Given the description of an element on the screen output the (x, y) to click on. 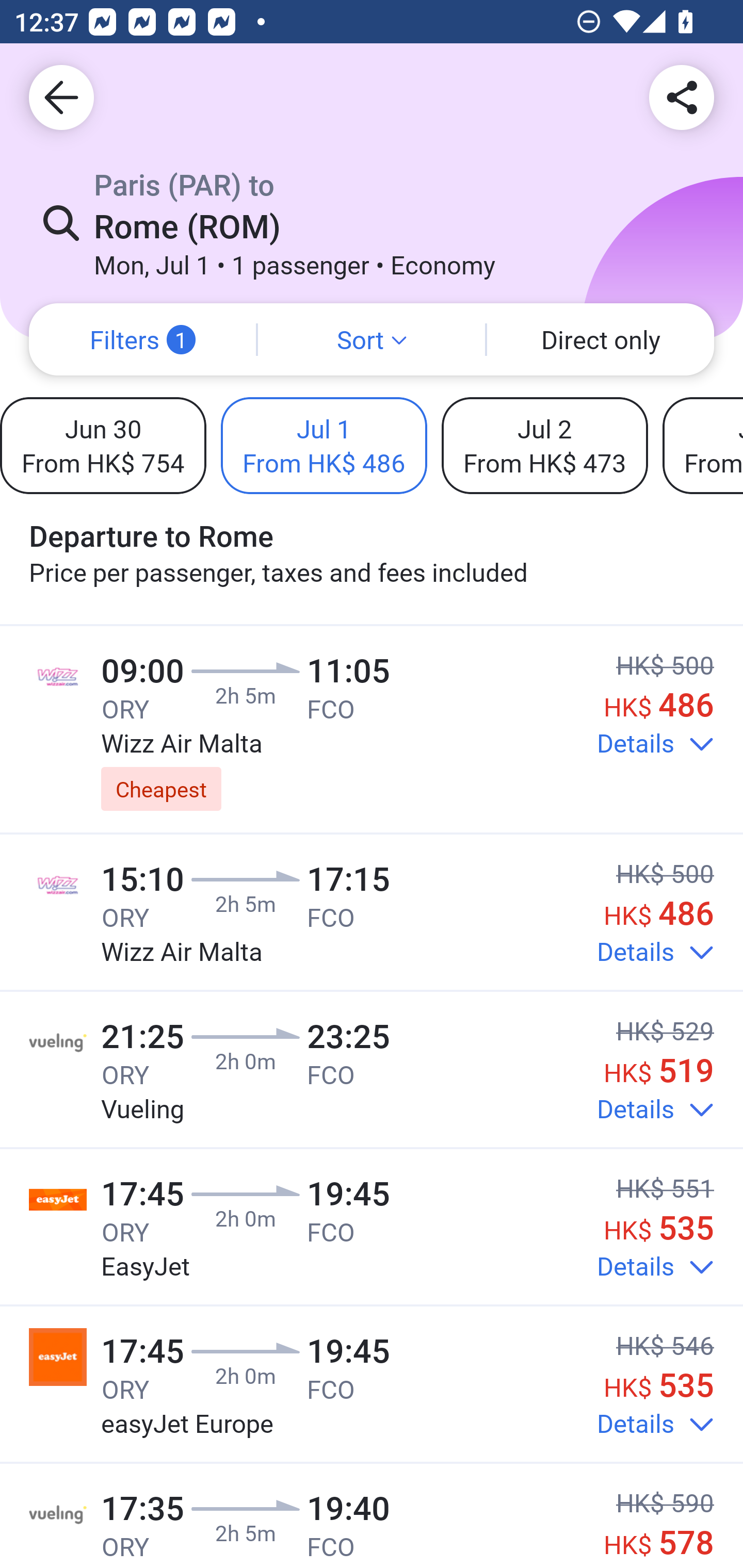
Filters 1 (141, 339)
Sort (371, 339)
Direct only (600, 339)
Jun 30 From HK$ 754 (103, 444)
Jul 1 From HK$ 486 (323, 444)
Jul 2 From HK$ 473 (544, 444)
